Given the description of an element on the screen output the (x, y) to click on. 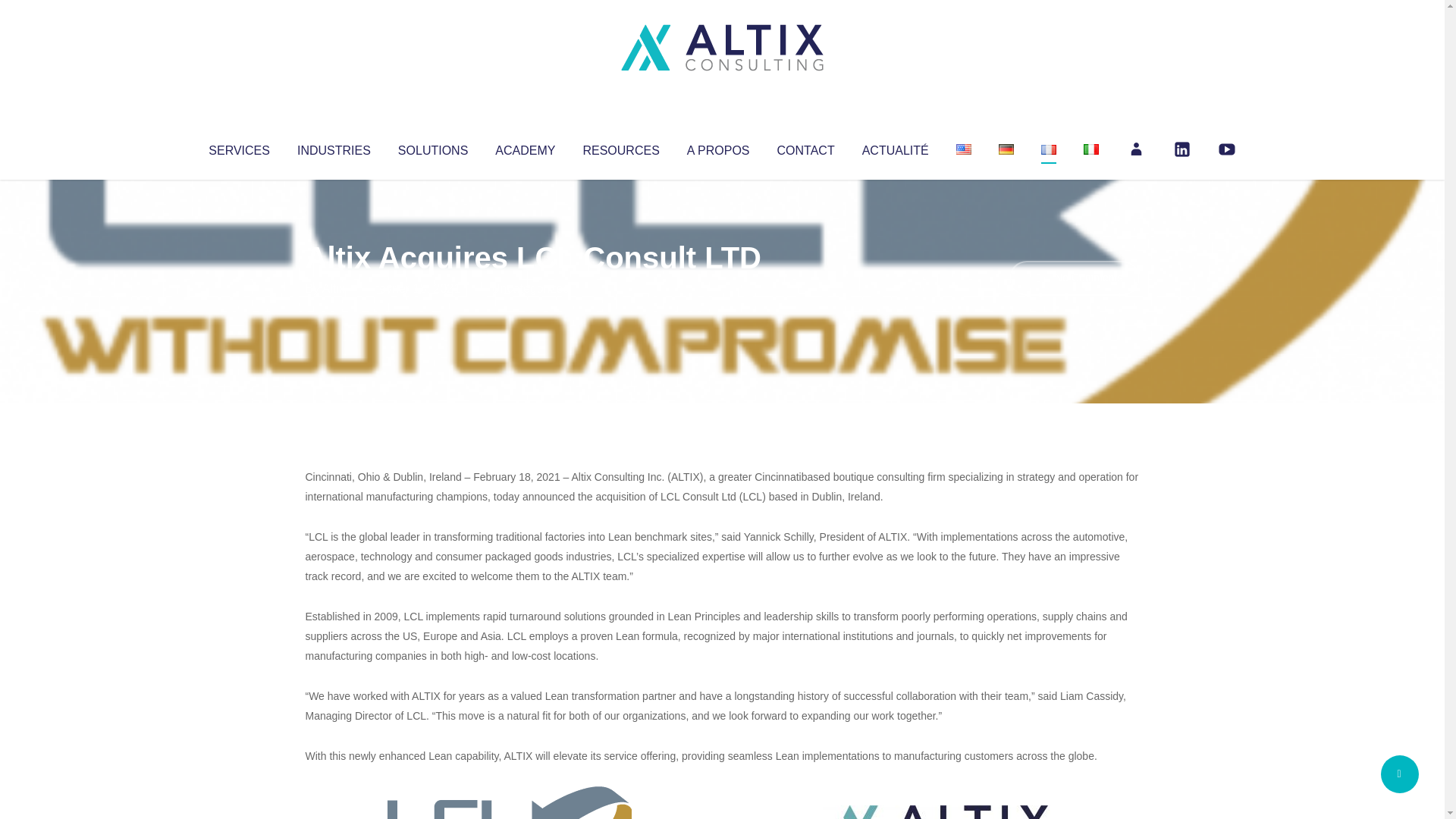
ACADEMY (524, 146)
Articles par Altix (333, 287)
SERVICES (238, 146)
RESOURCES (620, 146)
A PROPOS (718, 146)
SOLUTIONS (432, 146)
INDUSTRIES (334, 146)
Uncategorized (530, 287)
Altix (333, 287)
No Comments (1073, 278)
